Given the description of an element on the screen output the (x, y) to click on. 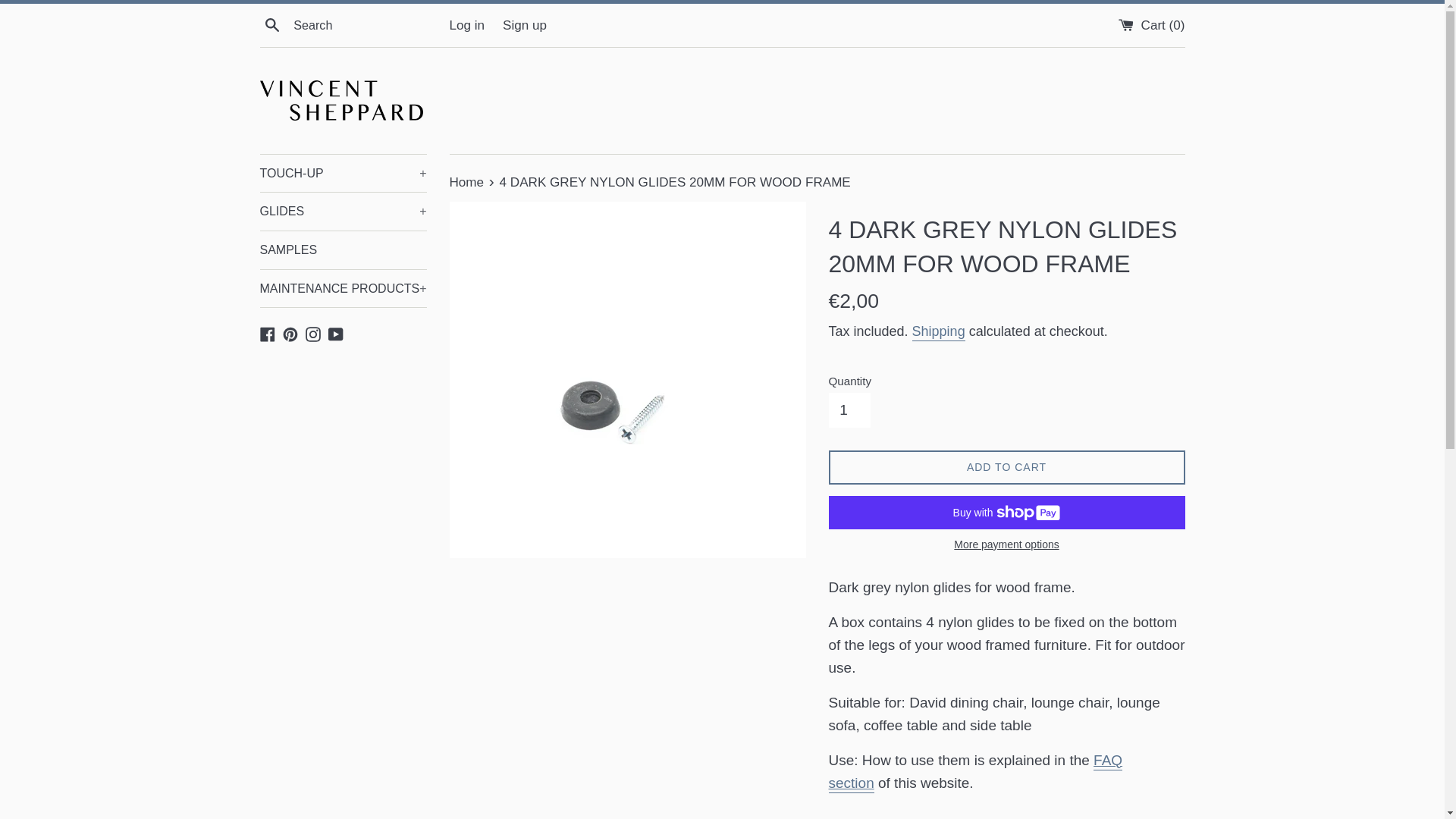
ADD TO CART (1006, 467)
SAMPLES (342, 249)
1 (848, 410)
FAQ section (975, 772)
Vincent Sheppard Services on Facebook (267, 333)
YouTube (336, 333)
Vincent Sheppard Services on YouTube (336, 333)
Vincent Sheppard Services on Instagram (312, 333)
Home (467, 182)
Log in (466, 25)
